Given the description of an element on the screen output the (x, y) to click on. 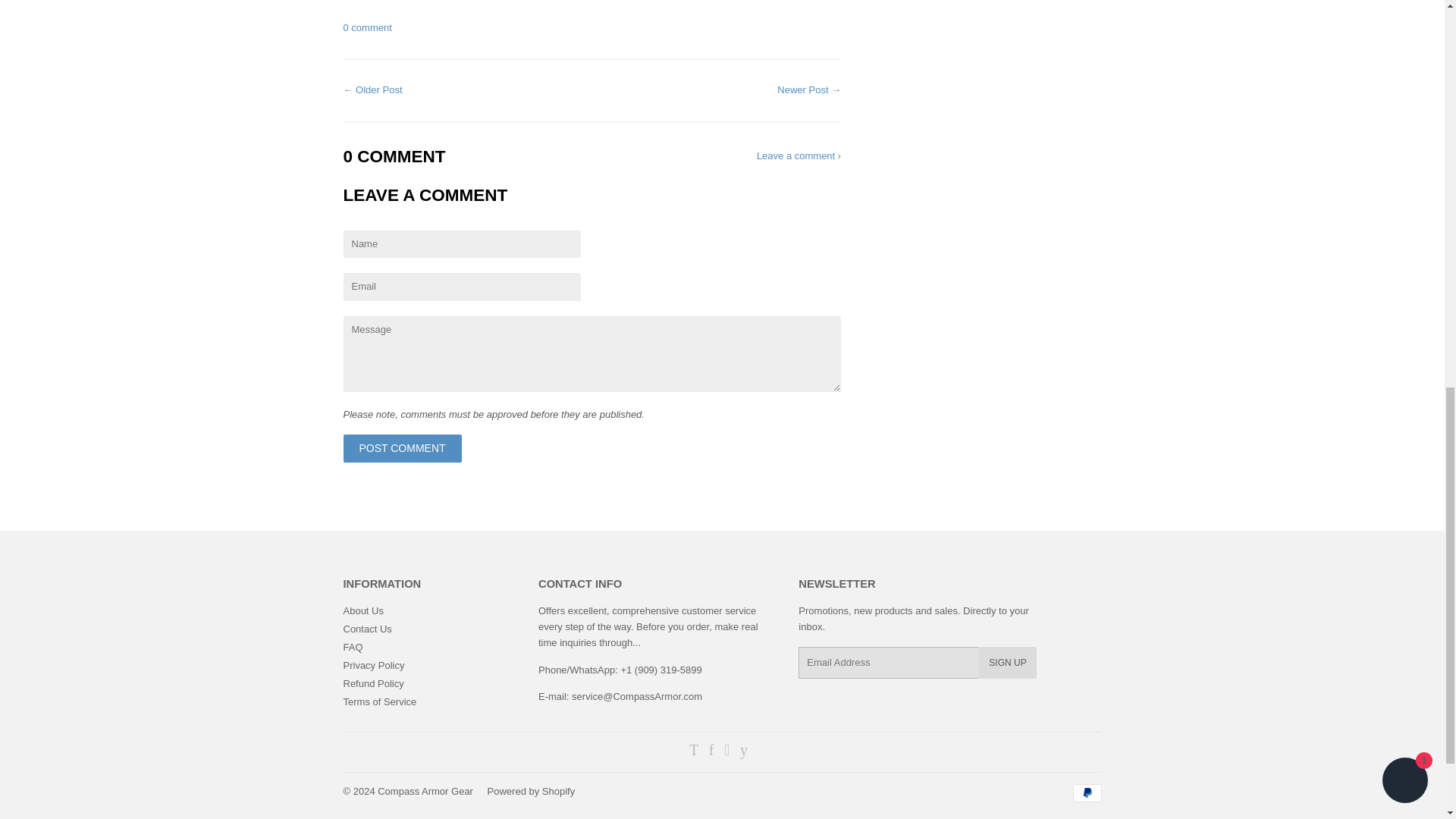
PayPal (1085, 792)
About Us (362, 610)
Post comment (401, 448)
Contact Us (366, 628)
0 comment (366, 27)
Post comment (401, 448)
